Given the description of an element on the screen output the (x, y) to click on. 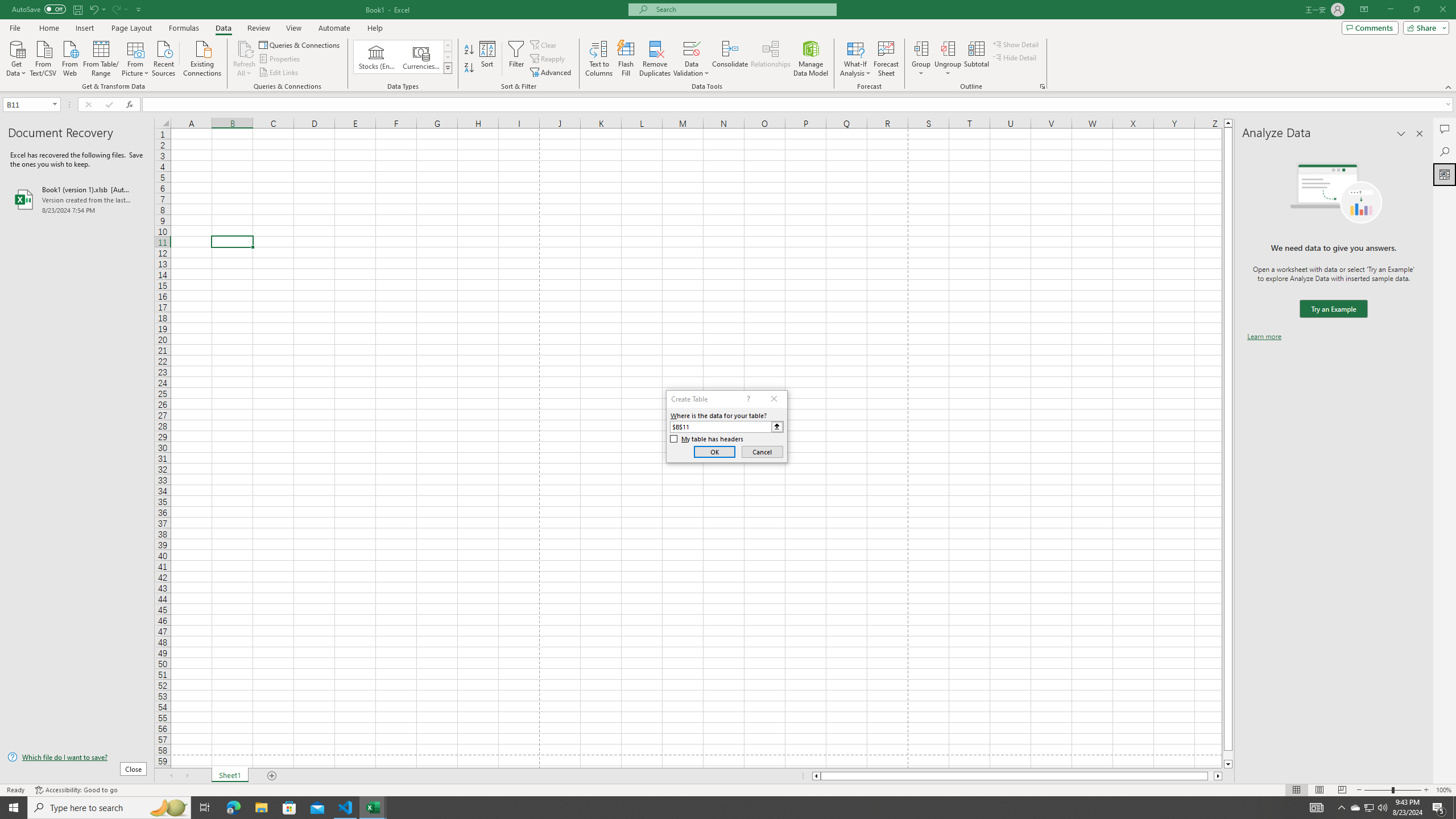
Hide Detail (1014, 56)
Flash Fill (625, 58)
Filter (515, 58)
We need data to give you answers. Try an Example (1333, 308)
Show Detail (1016, 44)
Subtotal (976, 58)
From Web (69, 57)
Data Types (448, 67)
